Given the description of an element on the screen output the (x, y) to click on. 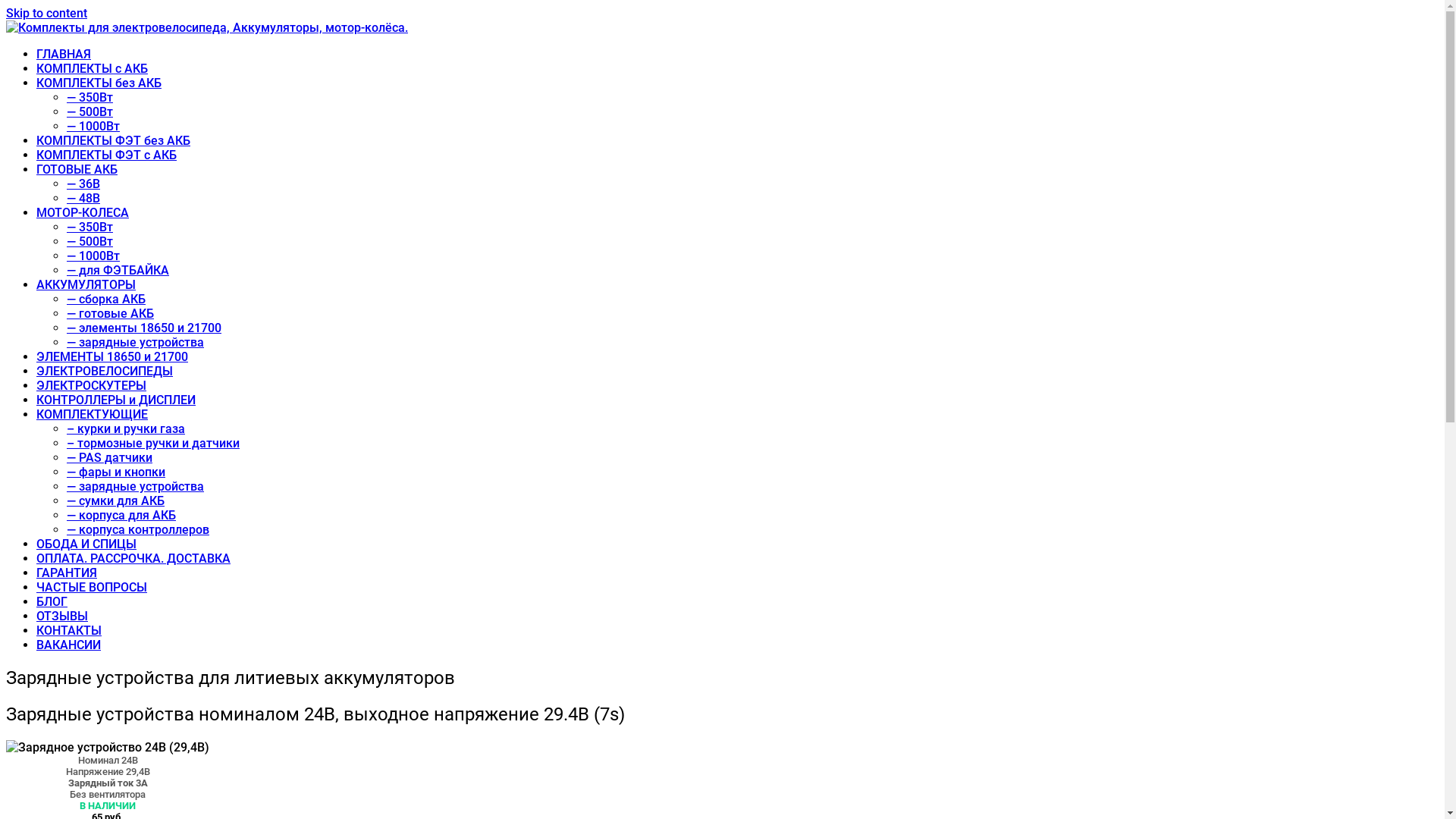
Skip to content Element type: text (46, 13)
